Given the description of an element on the screen output the (x, y) to click on. 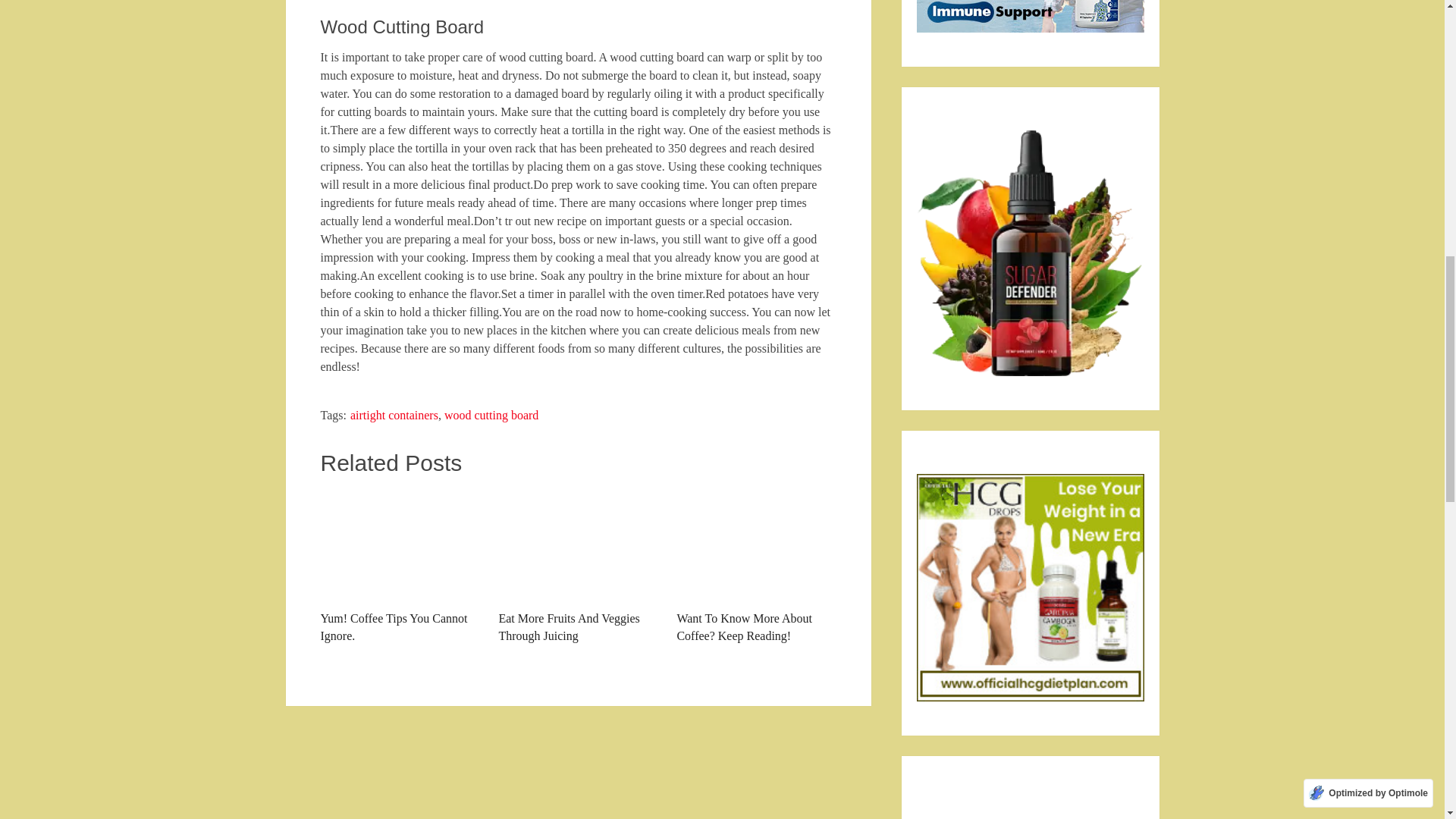
Want To Know More About Coffee? Keep Reading! (756, 566)
Eat More Fruits And Veggies Through Juicing (577, 566)
Yum! Coffee Tips You Cannot Ignore. (399, 566)
airtight containers (394, 414)
wood cutting board (491, 414)
Want To Know More About Coffee? Keep Reading! (756, 544)
Yum! Coffee Tips You Cannot  Ignore. (399, 566)
Yum! Coffee Tips You Cannot Ignore. (399, 544)
Want To Know More About Coffee? Keep Reading! (756, 566)
Eat More Fruits And Veggies Through Juicing (577, 544)
Eat More Fruits And Veggies Through Juicing (577, 566)
